Given the description of an element on the screen output the (x, y) to click on. 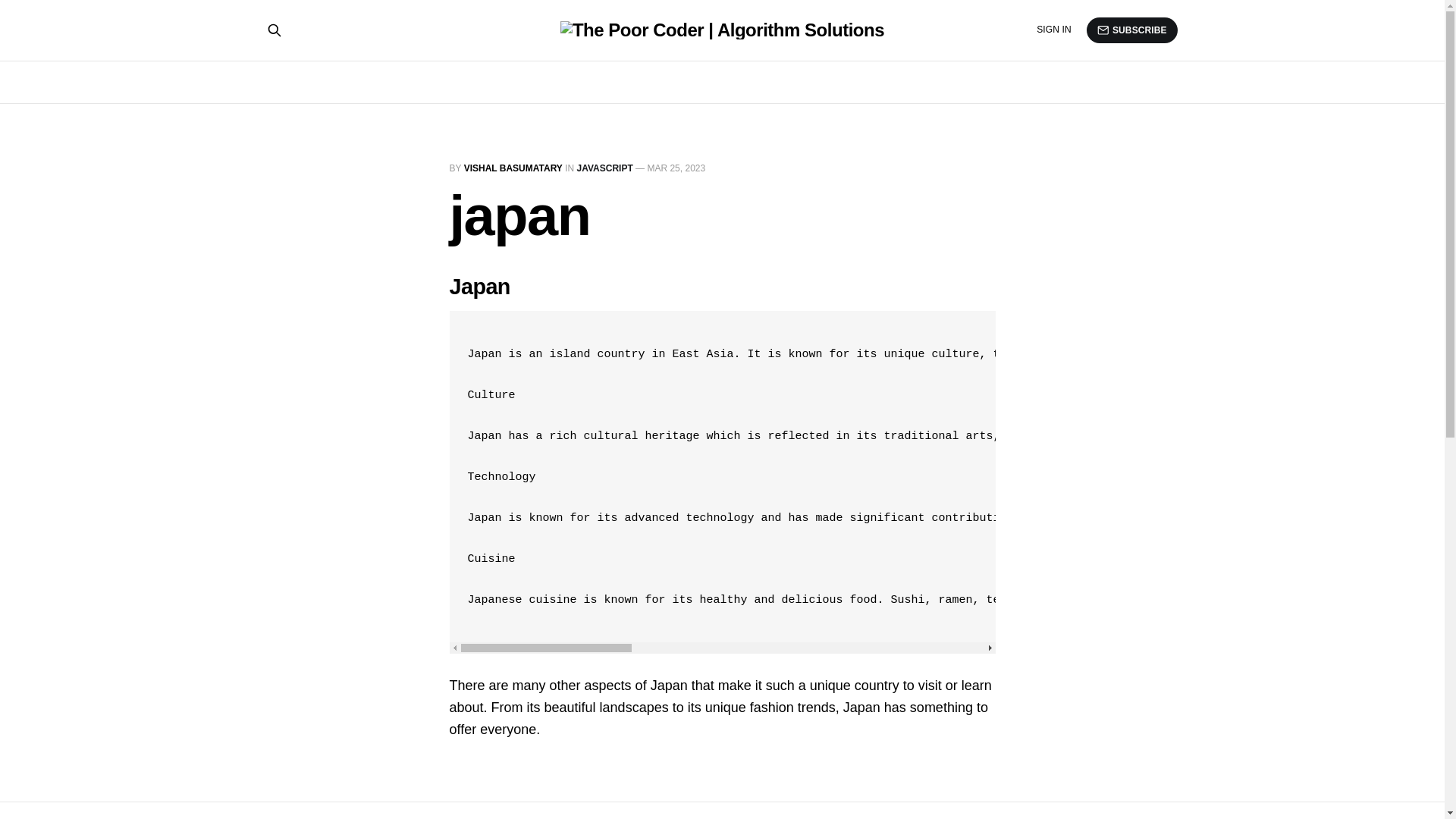
SUBSCRIBE (1131, 30)
VISHAL BASUMATARY (513, 167)
SIGN IN (1053, 29)
JAVASCRIPT (604, 167)
